Given the description of an element on the screen output the (x, y) to click on. 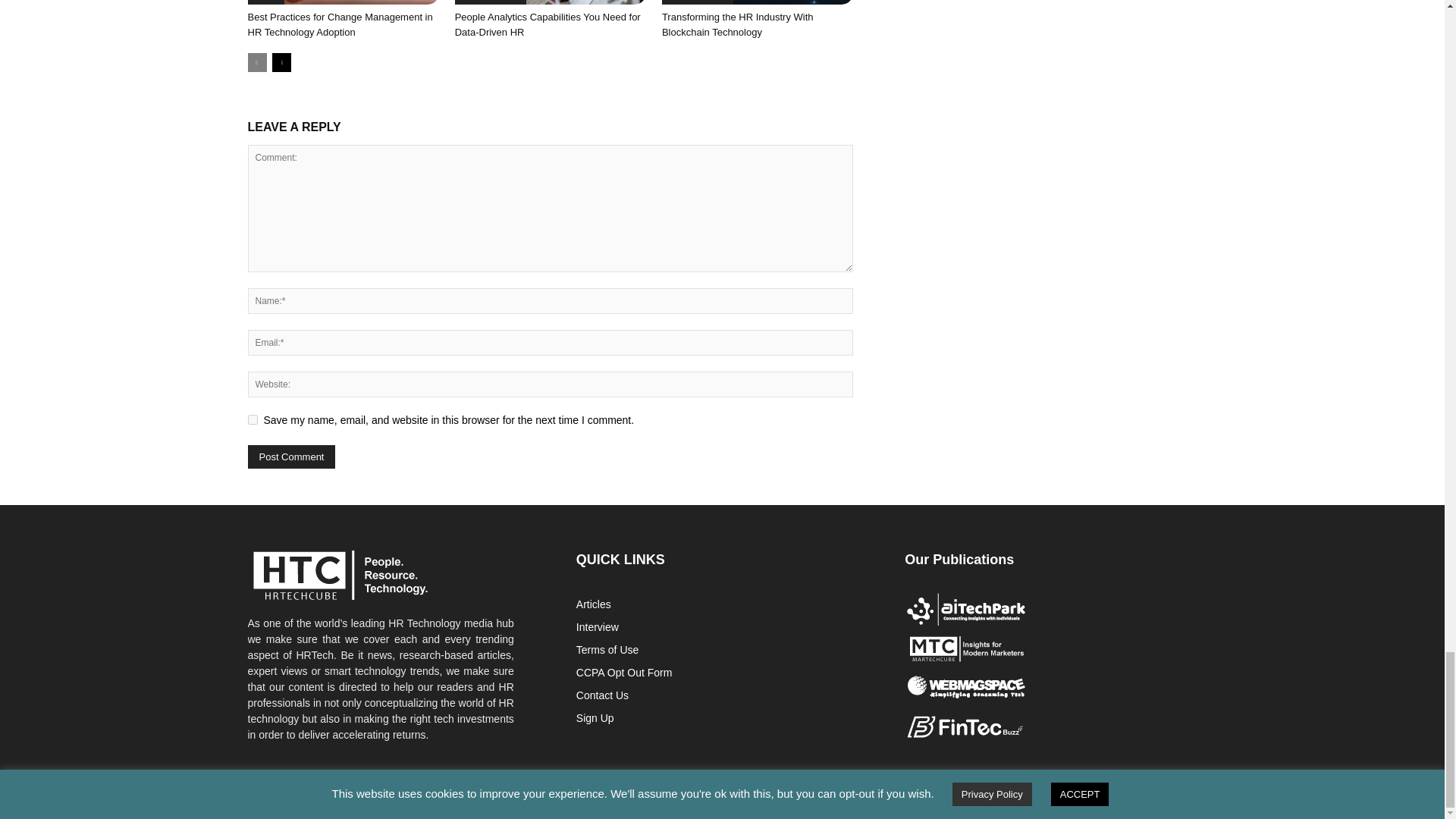
Post Comment (290, 456)
yes (252, 419)
